Given the description of an element on the screen output the (x, y) to click on. 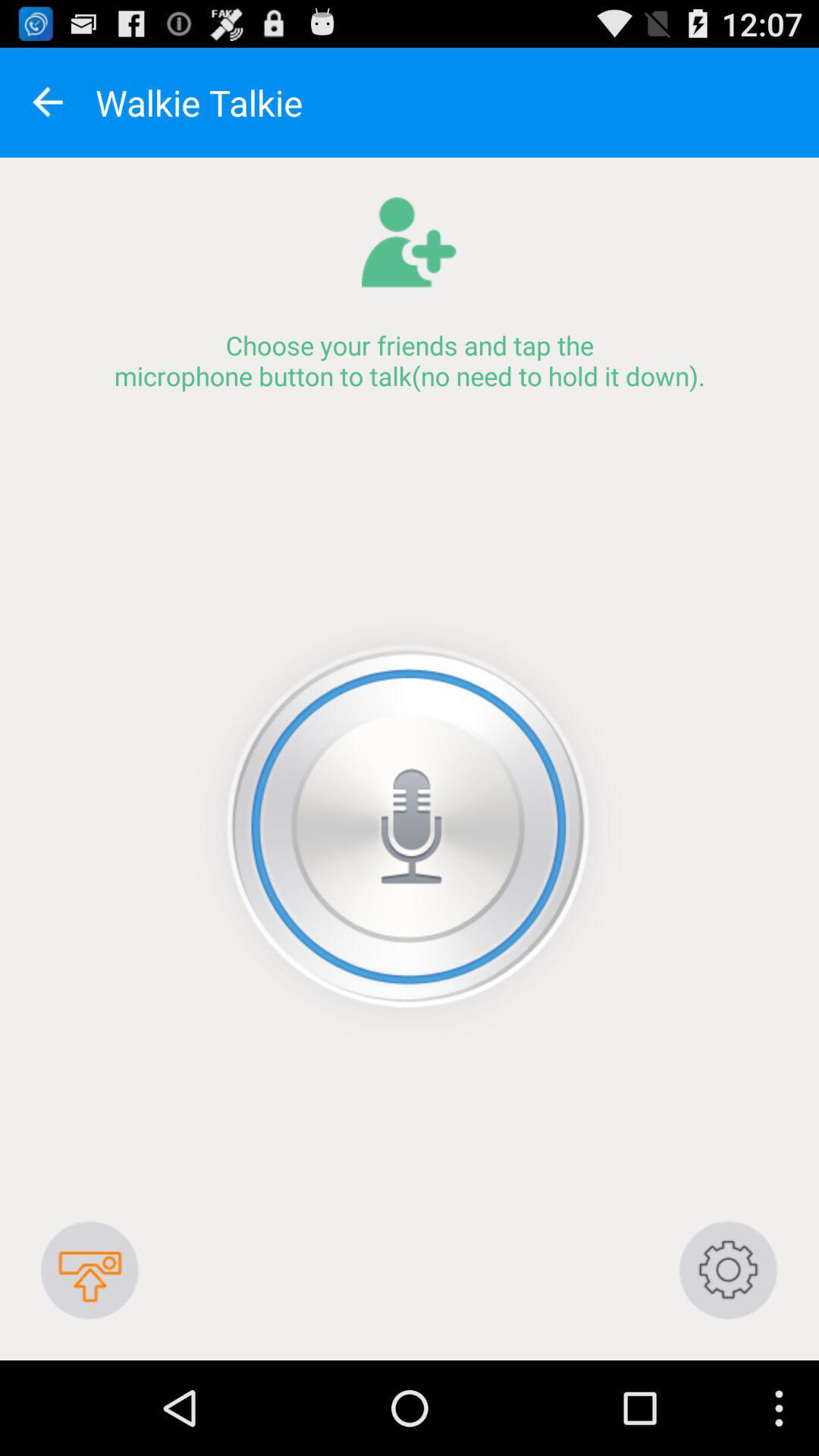
open settings (728, 1269)
